Given the description of an element on the screen output the (x, y) to click on. 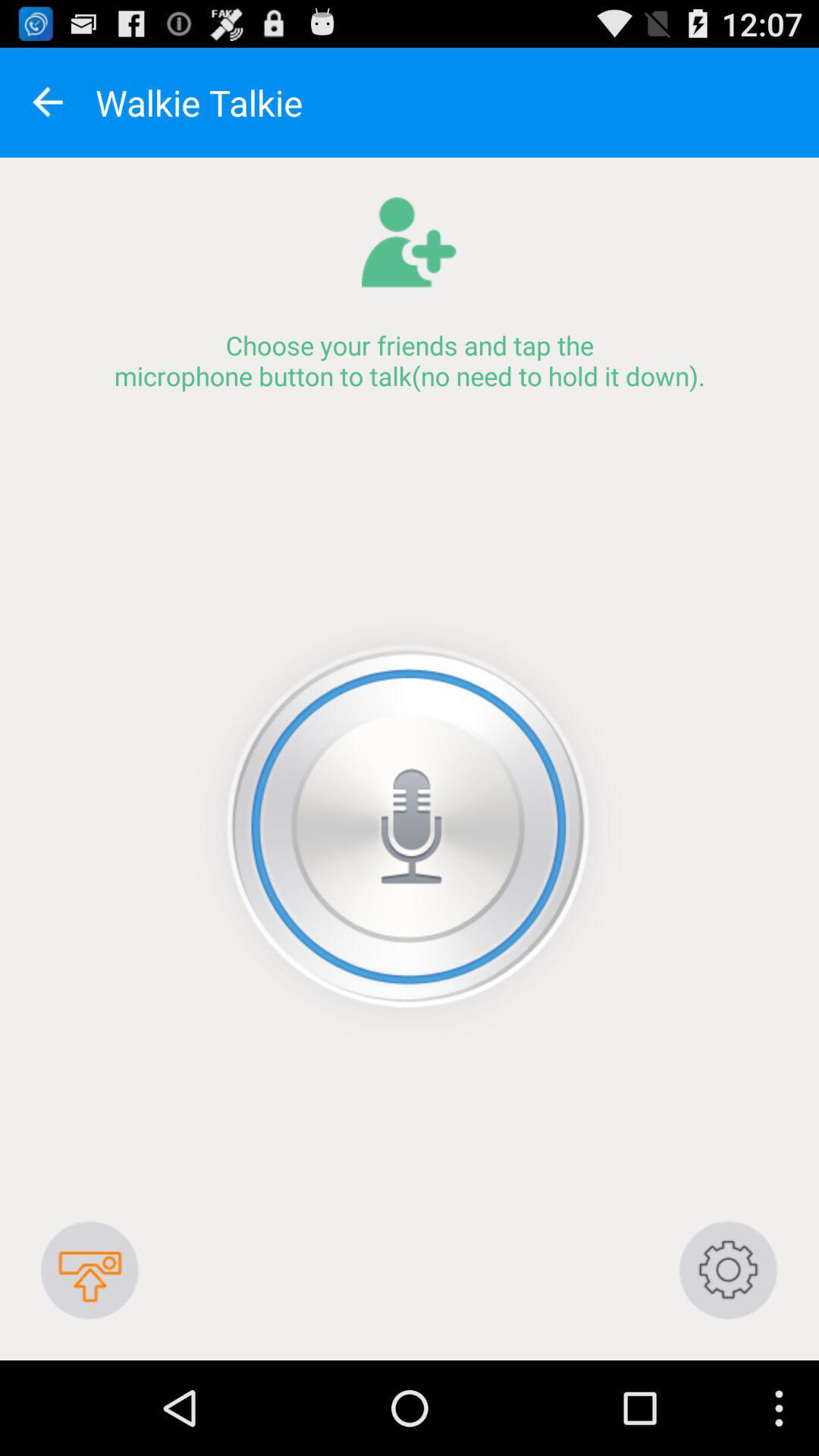
open settings (728, 1269)
